Given the description of an element on the screen output the (x, y) to click on. 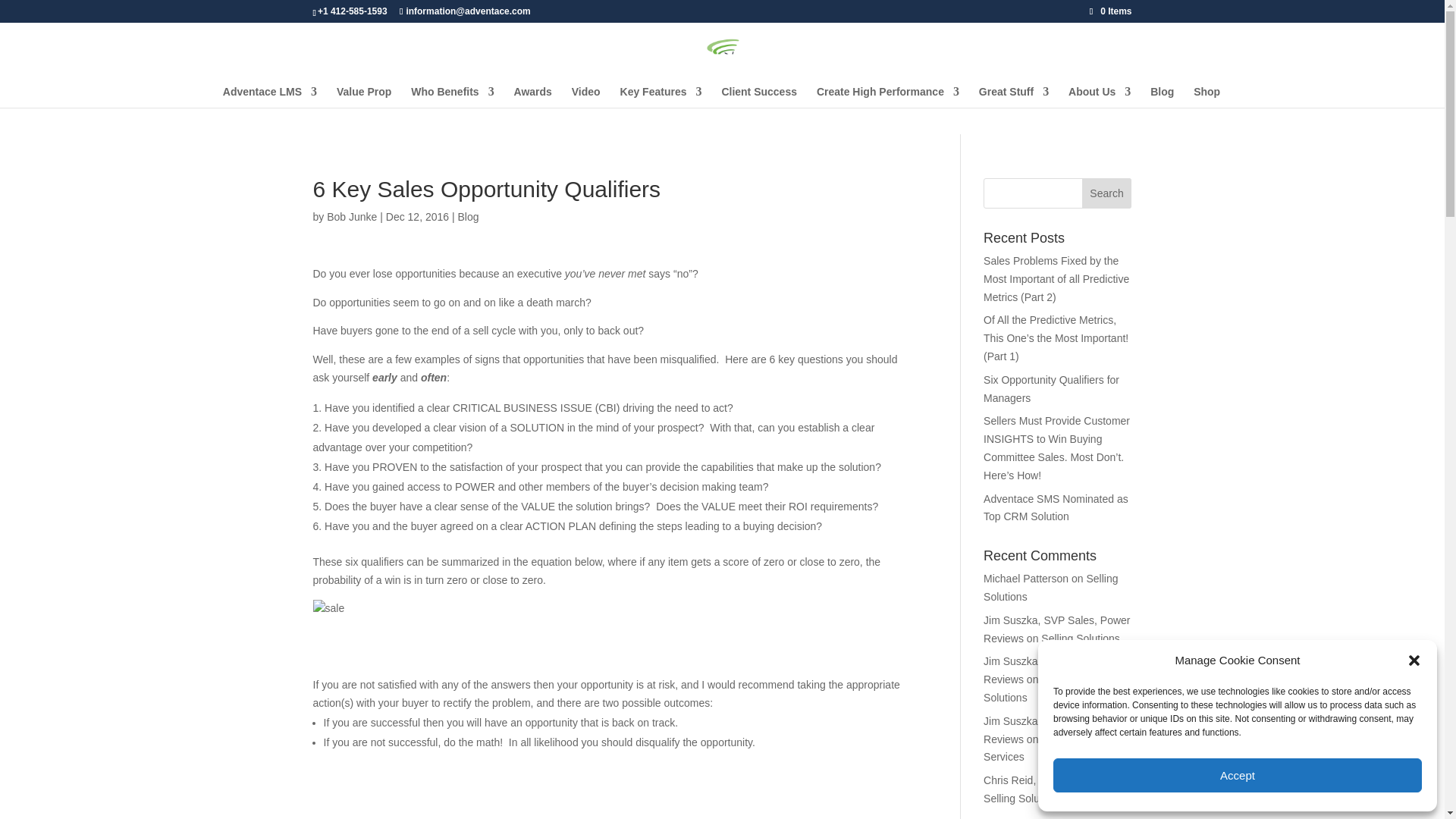
Key Features (660, 96)
Adventace LMS (269, 96)
Posts by Bob Junke (351, 216)
0 Items (1110, 10)
Who Benefits (451, 96)
Search (1106, 193)
Video (585, 96)
Value Prop (363, 96)
Awards (532, 96)
Accept (1237, 775)
